Given the description of an element on the screen output the (x, y) to click on. 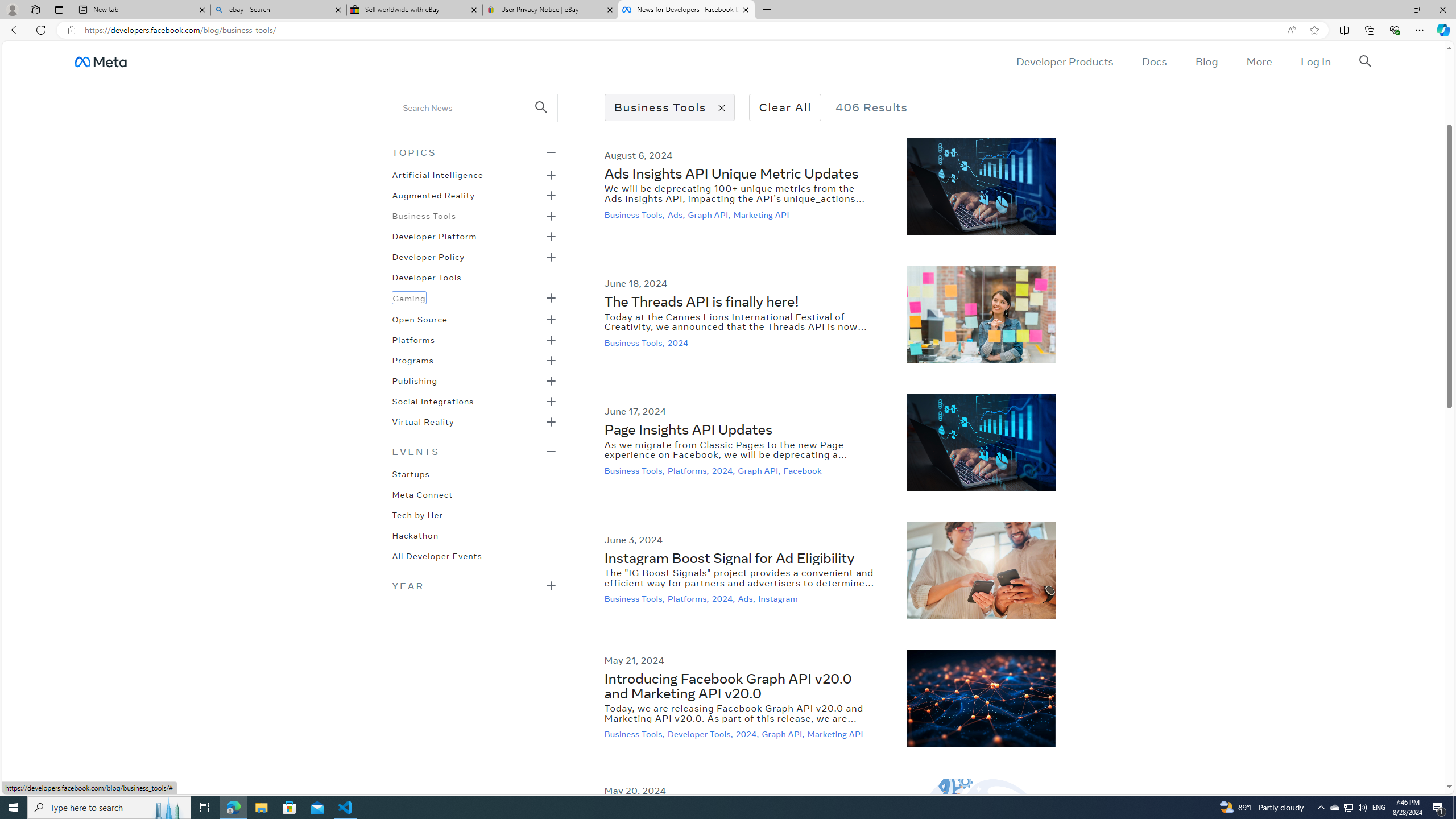
Platforms, (688, 598)
Open Source (418, 318)
Business Tools (423, 214)
Social Integrations (432, 400)
Startups (410, 472)
All Developer Events (436, 554)
Docs (1153, 61)
2024, (748, 733)
Business Tools, (636, 733)
